Given the description of an element on the screen output the (x, y) to click on. 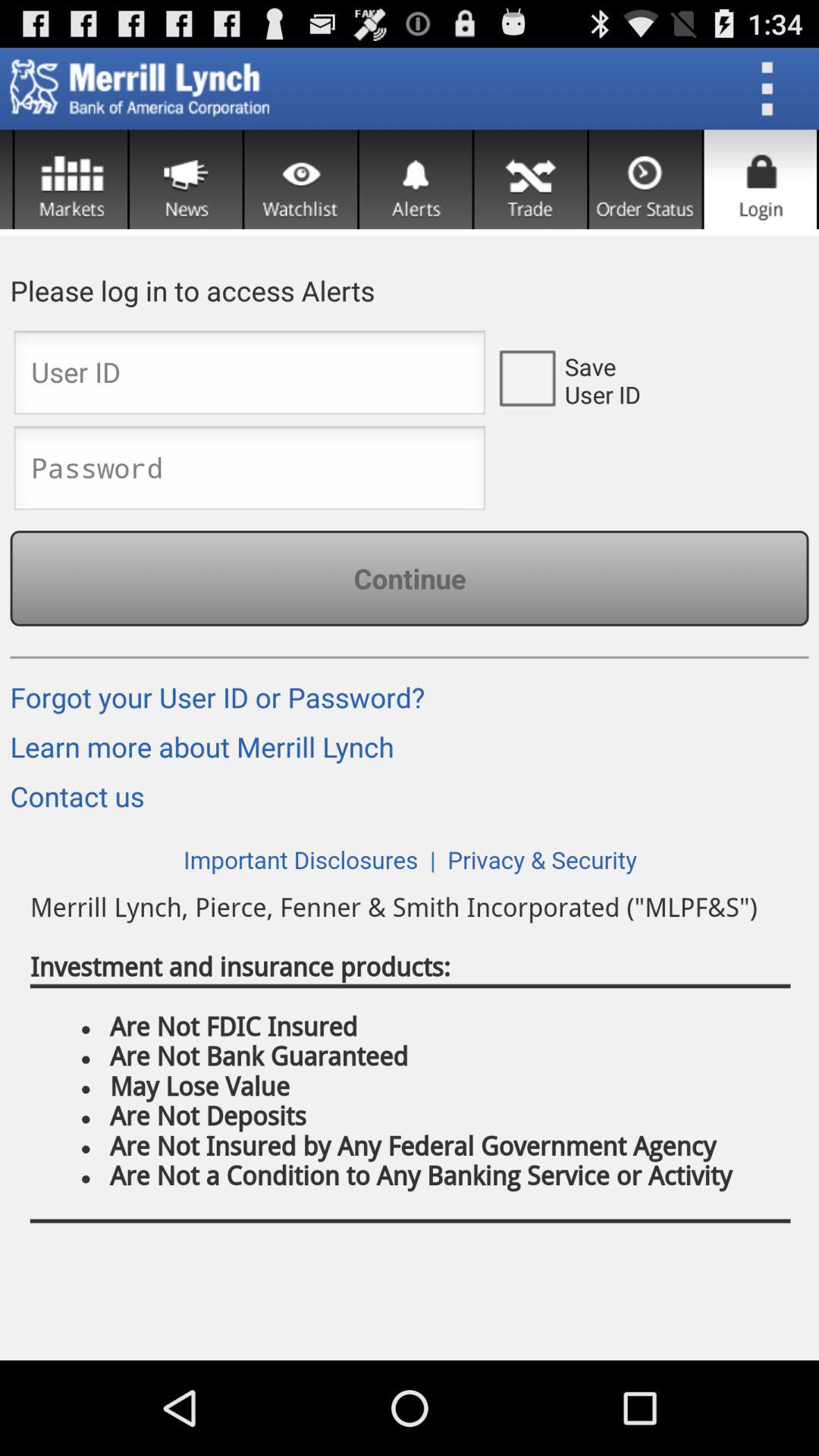
login syumpol (760, 179)
